Given the description of an element on the screen output the (x, y) to click on. 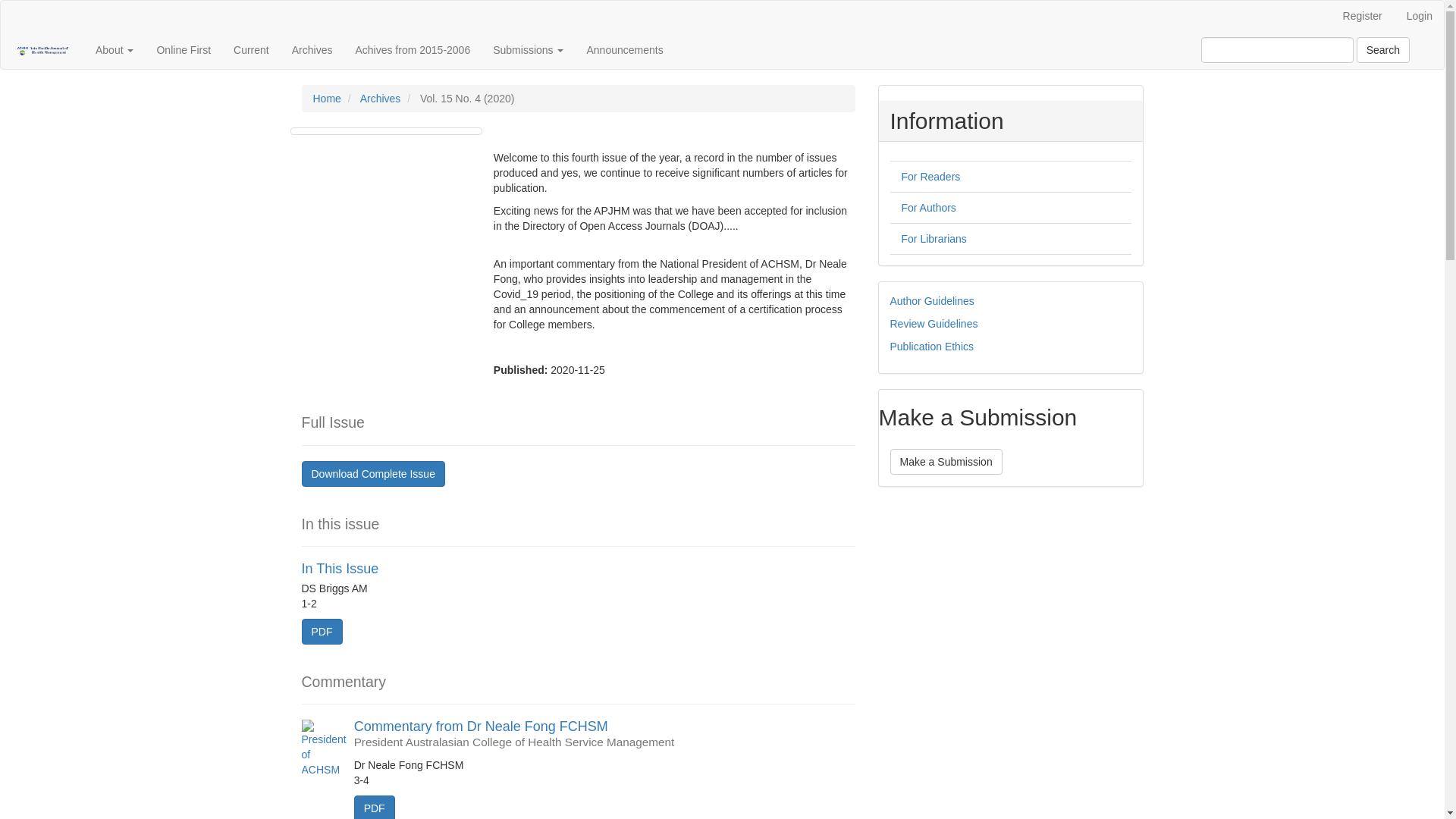
Publication Ethics Element type: text (932, 346)
For Authors Element type: text (927, 207)
Login Element type: text (1419, 15)
For Readers Element type: text (930, 176)
Home Element type: text (326, 98)
Current Element type: text (251, 50)
Online First Element type: text (183, 50)
Review Guidelines Element type: text (934, 323)
Register Element type: text (1362, 15)
Achives from 2015-2006 Element type: text (412, 50)
Make a Submission Element type: text (946, 461)
Search Element type: text (1382, 49)
Announcements Element type: text (624, 50)
In This Issue Element type: text (340, 568)
PDF Element type: text (321, 631)
Download Complete Issue Element type: text (373, 473)
Submissions Element type: text (527, 50)
Archives Element type: text (312, 50)
For Librarians Element type: text (933, 238)
About Element type: text (114, 50)
Author Guidelines Element type: text (932, 300)
Archives Element type: text (380, 98)
